Given the description of an element on the screen output the (x, y) to click on. 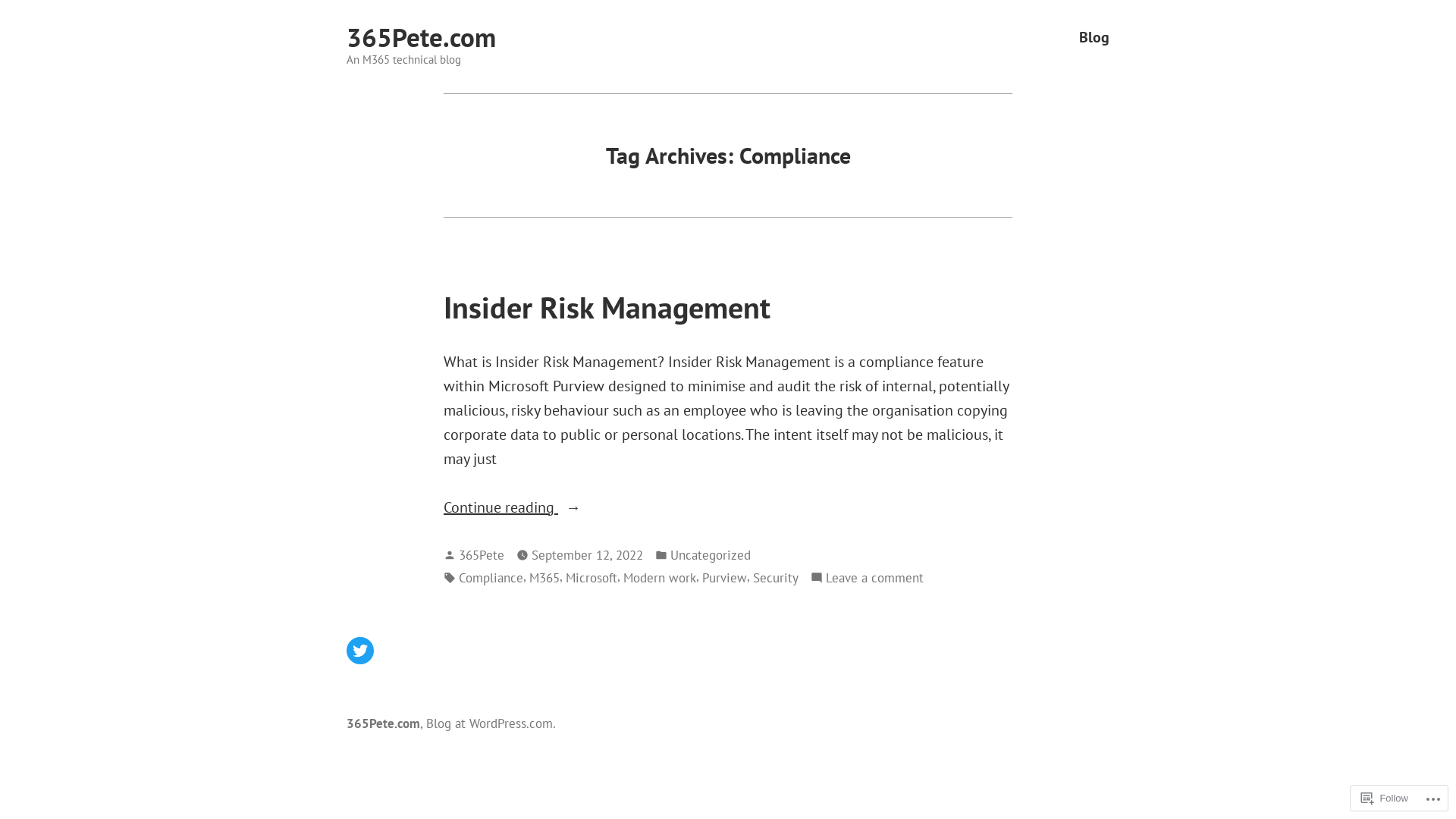
Leave a comment Element type: text (874, 577)
365Pete Element type: text (481, 554)
Uncategorized Element type: text (710, 554)
Purview Element type: text (724, 577)
M365 Element type: text (544, 577)
September 12, 2022 Element type: text (587, 554)
Insider Risk Management Element type: text (606, 306)
Follow Element type: text (1384, 797)
Continue reading Element type: text (727, 507)
Blog at WordPress.com. Element type: text (490, 722)
365Pete.com Element type: text (420, 36)
Microsoft Element type: text (591, 577)
Security Element type: text (775, 577)
Modern work Element type: text (659, 577)
Compliance Element type: text (490, 577)
Blog Element type: text (1094, 37)
365Pete.com Element type: text (383, 722)
